Given the description of an element on the screen output the (x, y) to click on. 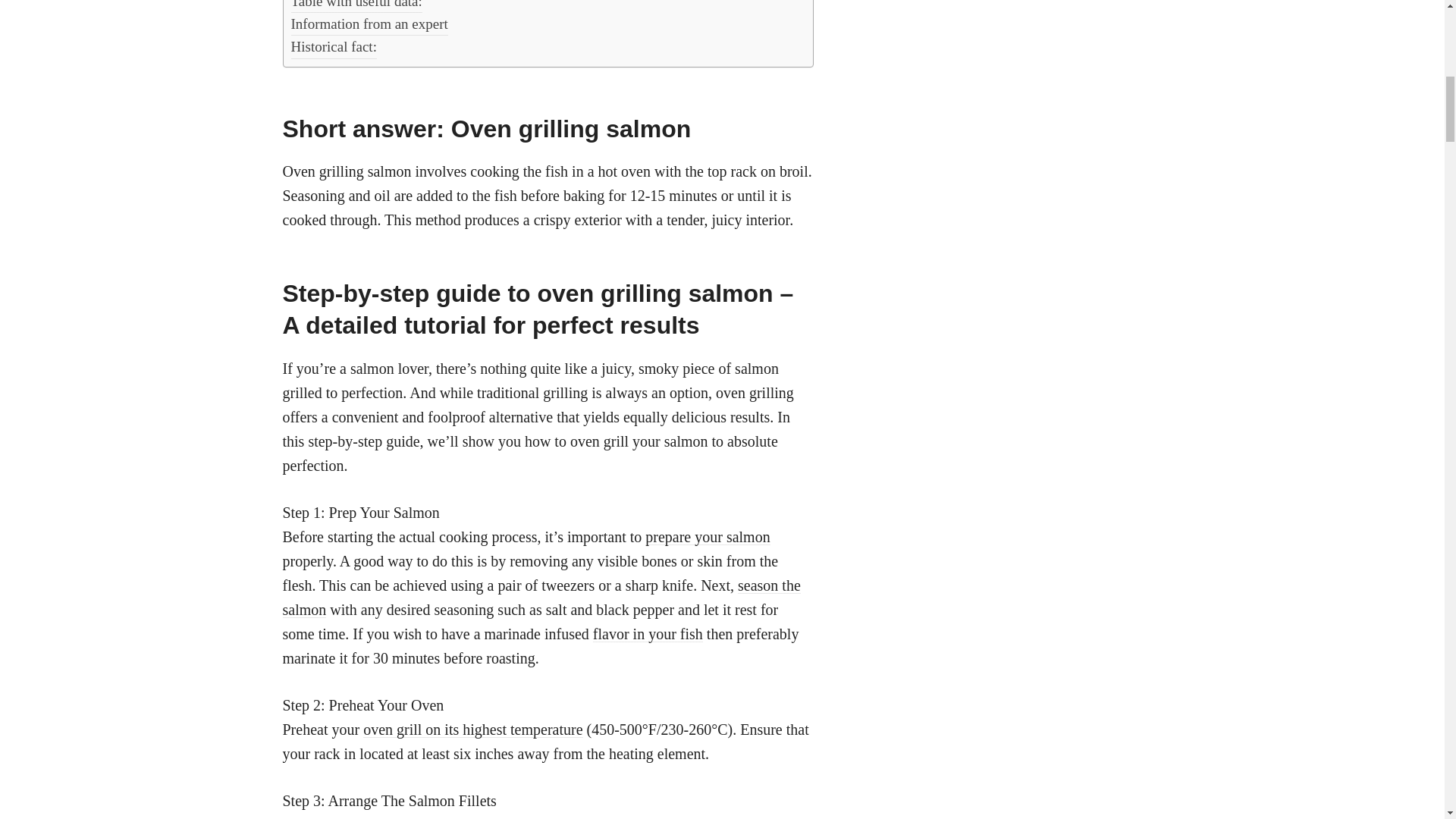
Table with useful data: (356, 6)
oven grill on its highest temperature (472, 729)
Historical fact: (334, 47)
Historical fact: (334, 47)
flavor in your fish (647, 633)
Information from an expert (369, 24)
season the salmon (540, 597)
Information from an expert (369, 24)
Table with useful data: (356, 6)
prepare your salmon (707, 536)
